Given the description of an element on the screen output the (x, y) to click on. 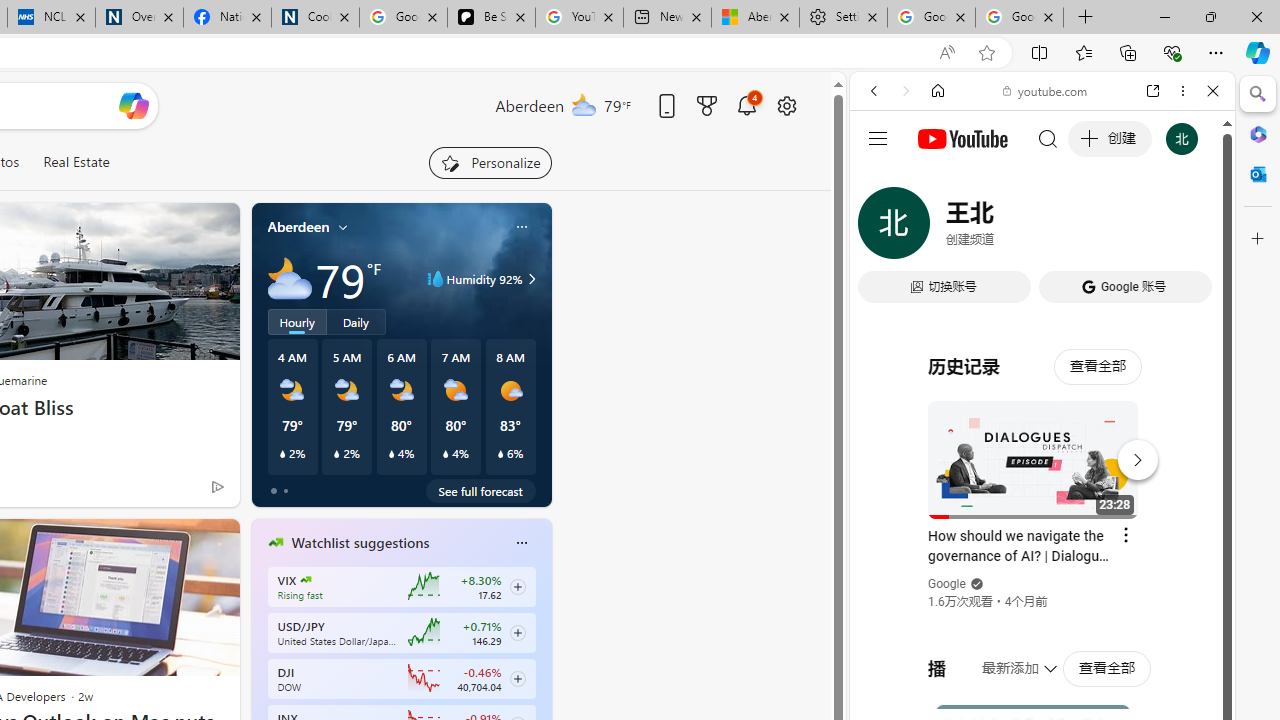
tab-0 (273, 490)
Google (1042, 494)
Real Estate (76, 161)
Hide this story (178, 542)
Daily (356, 321)
Real Estate (75, 162)
Aberdeen, Hong Kong SAR hourly forecast | Microsoft Weather (754, 17)
